Given the description of an element on the screen output the (x, y) to click on. 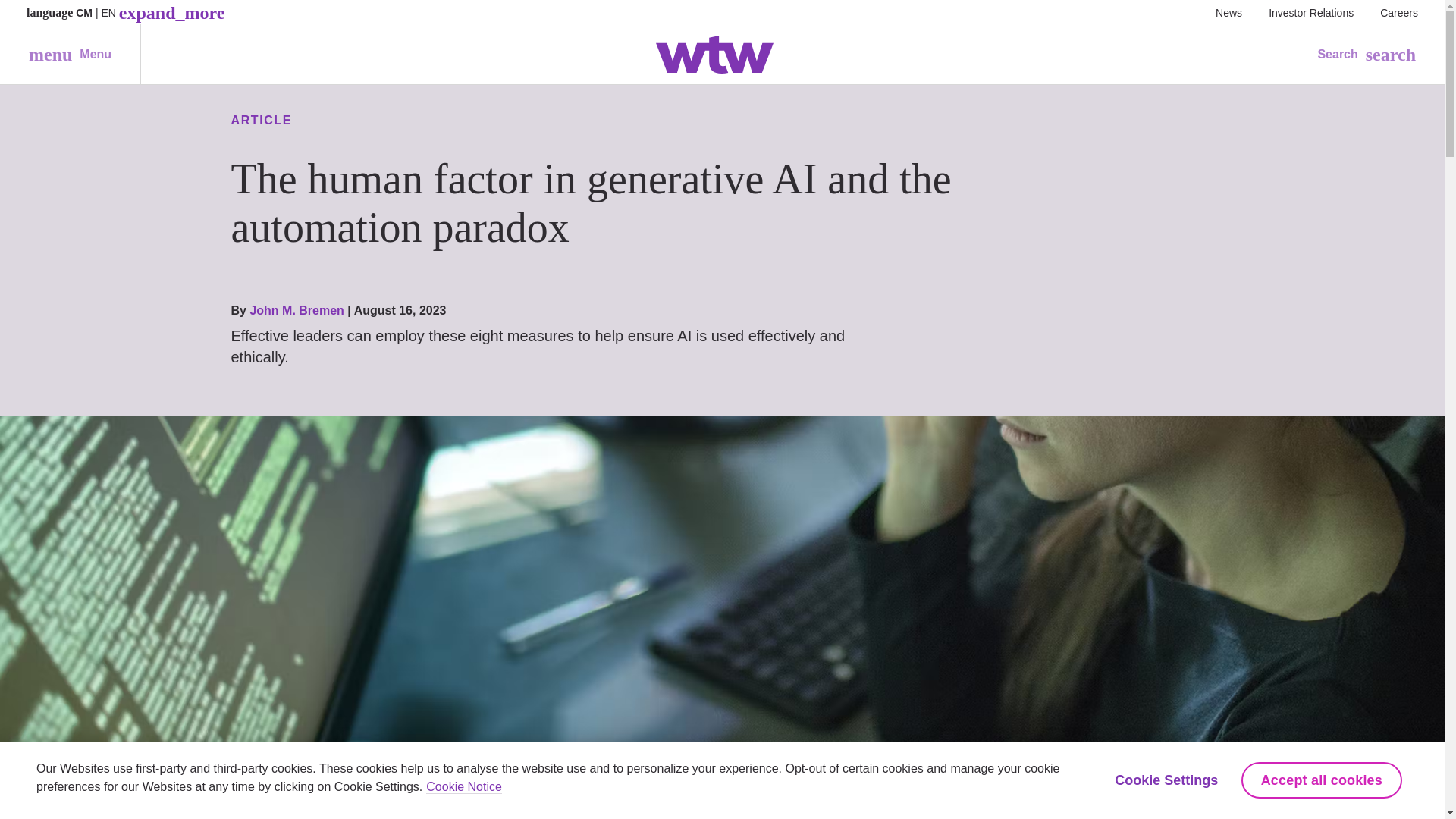
Careers (1399, 12)
Investor Relations (1311, 12)
News (1228, 12)
